Given the description of an element on the screen output the (x, y) to click on. 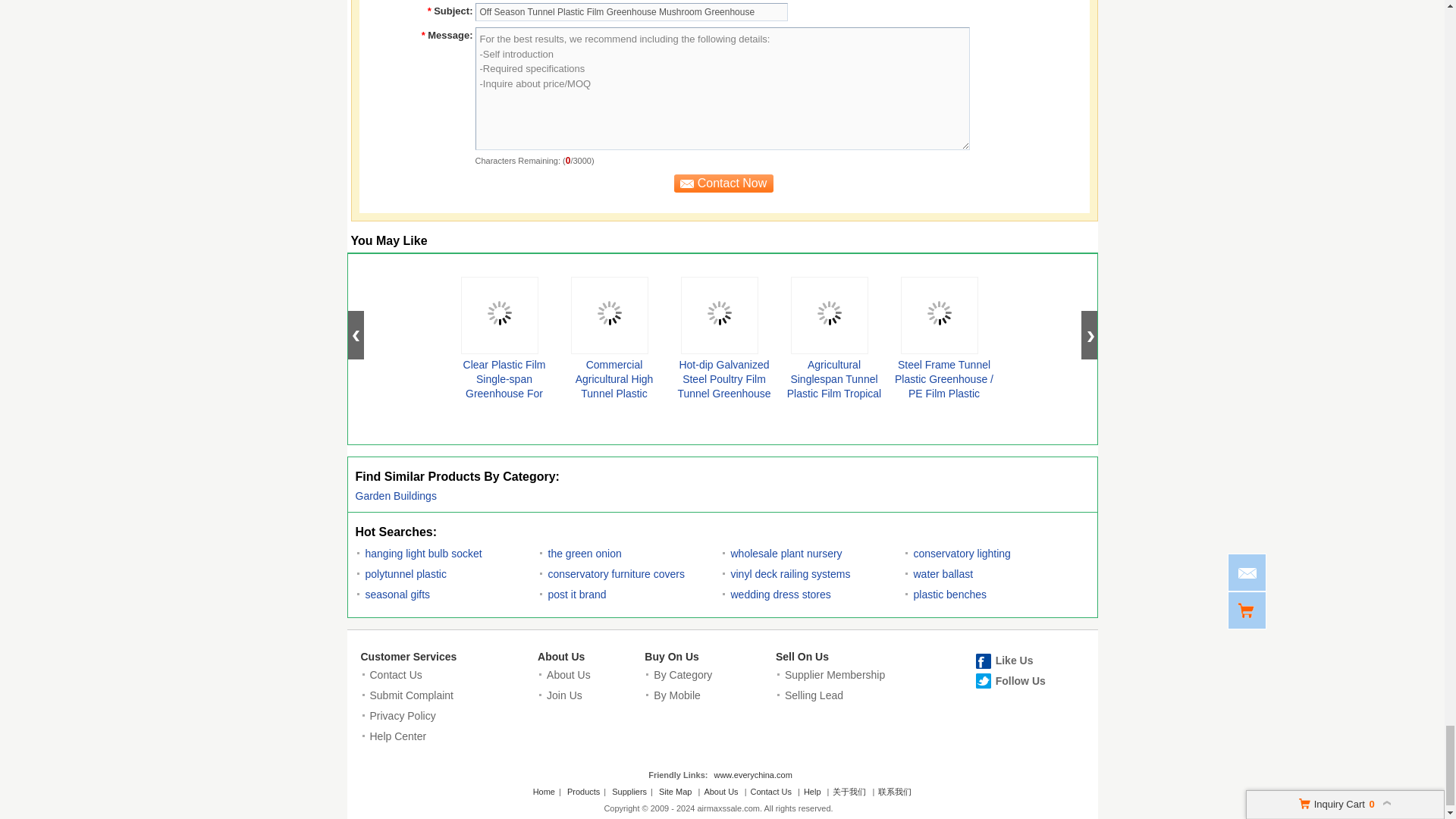
Contact Now (722, 183)
Contact China factory now (722, 183)
Contact Now (722, 183)
